Given the description of an element on the screen output the (x, y) to click on. 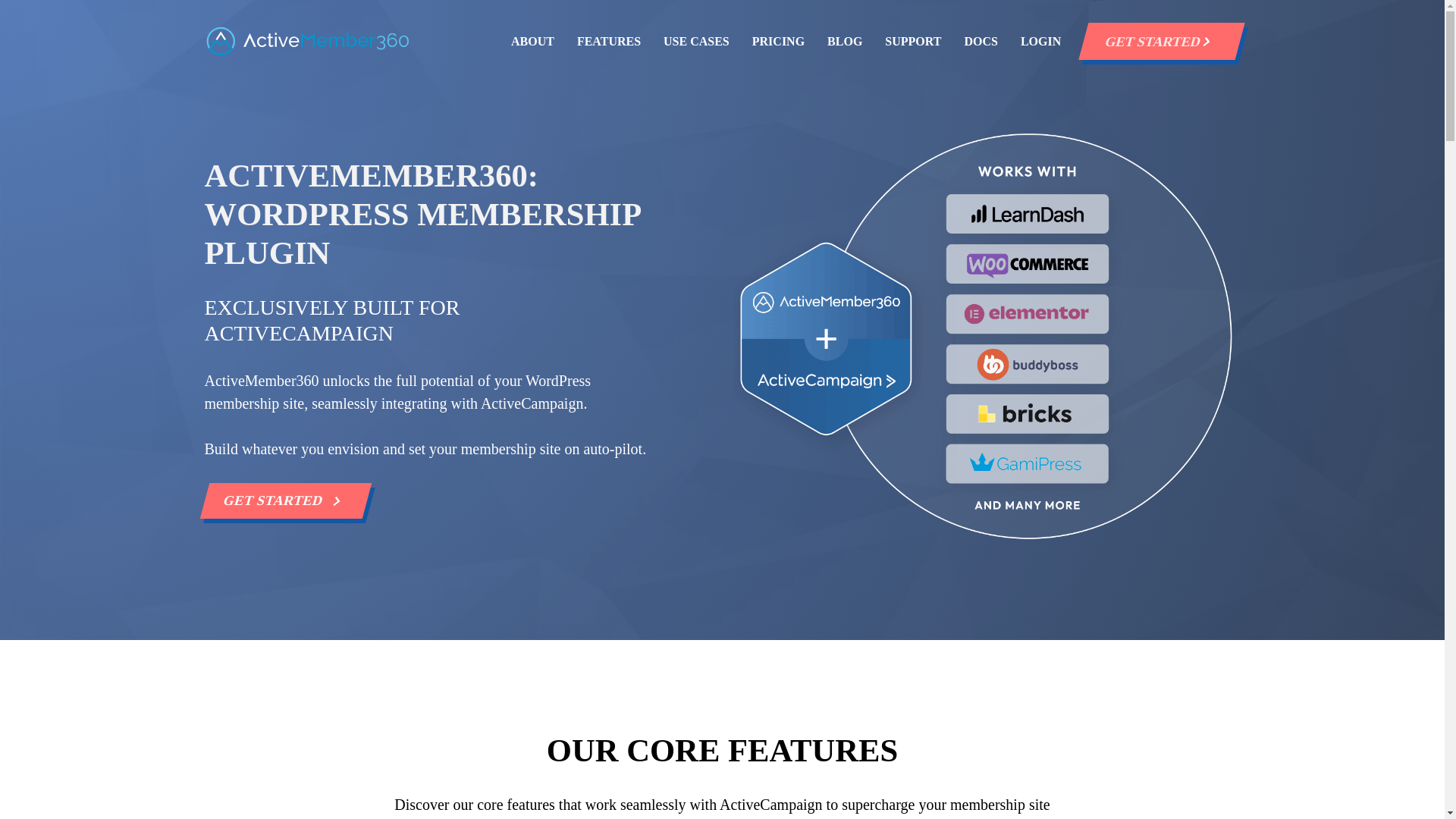
SUPPORT (912, 41)
PRICING (778, 41)
FEATURES (608, 41)
GET STARTED (1156, 40)
LOGIN (1040, 41)
DOCS (980, 41)
External Link to Loginpage (1040, 41)
External Link to Documentation (980, 41)
ABOUT (532, 41)
GET STARTED  (280, 500)
BLOG (844, 41)
Pricing Activemember 360 External Link (778, 41)
USE CASES (696, 41)
